Given the description of an element on the screen output the (x, y) to click on. 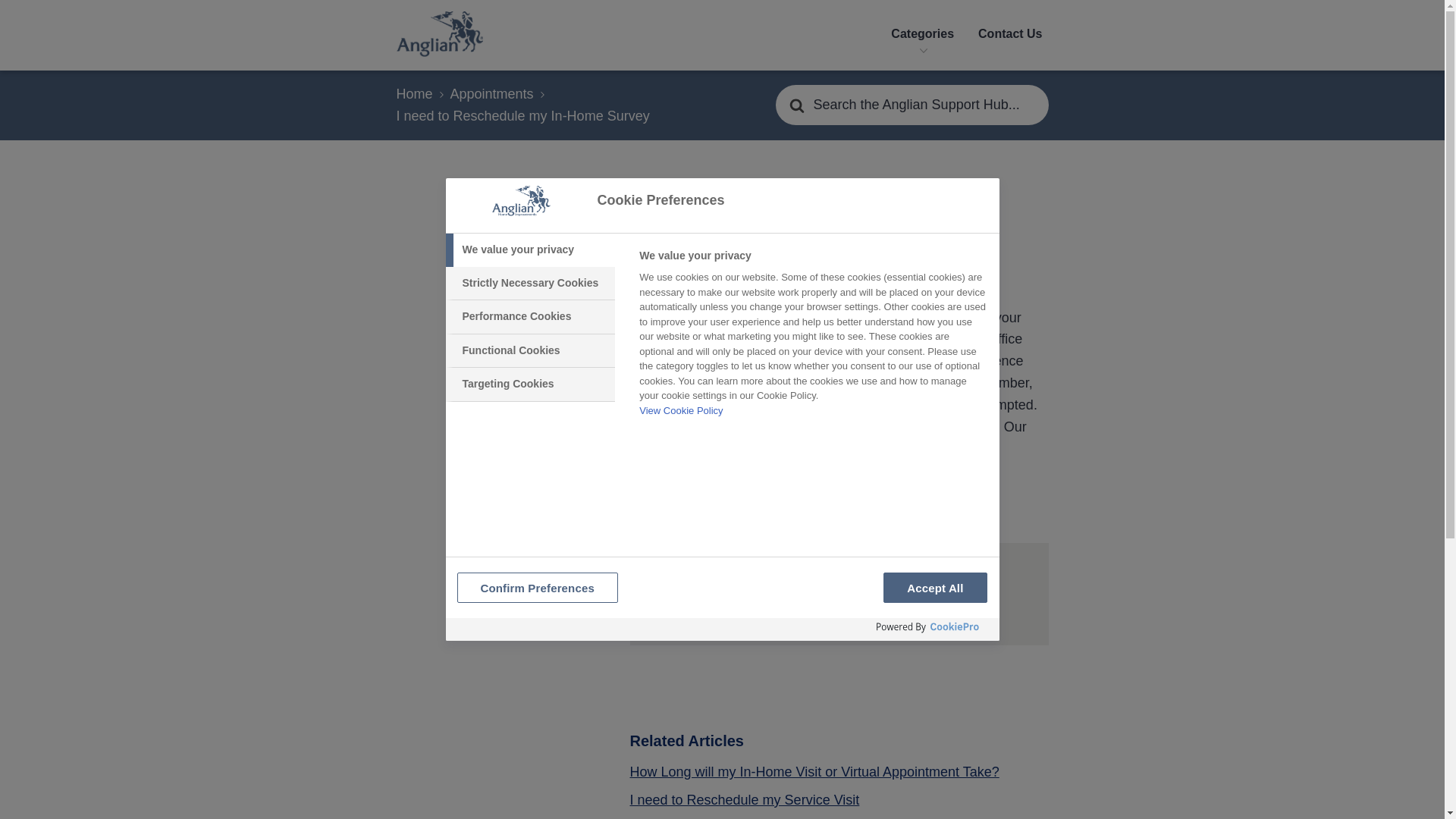
I need to Reschedule my Service Visit (743, 800)
Accept All (935, 587)
How Long will my In-Home Visit or Virtual Appointment Take? (813, 771)
Appointments (498, 93)
Categories (922, 34)
View Cookie Policy (680, 410)
Contact Us (1010, 34)
Confirm Preferences (537, 587)
Home (420, 93)
Powered by OneTrust Opens in a new Tab (927, 627)
